Given the description of an element on the screen output the (x, y) to click on. 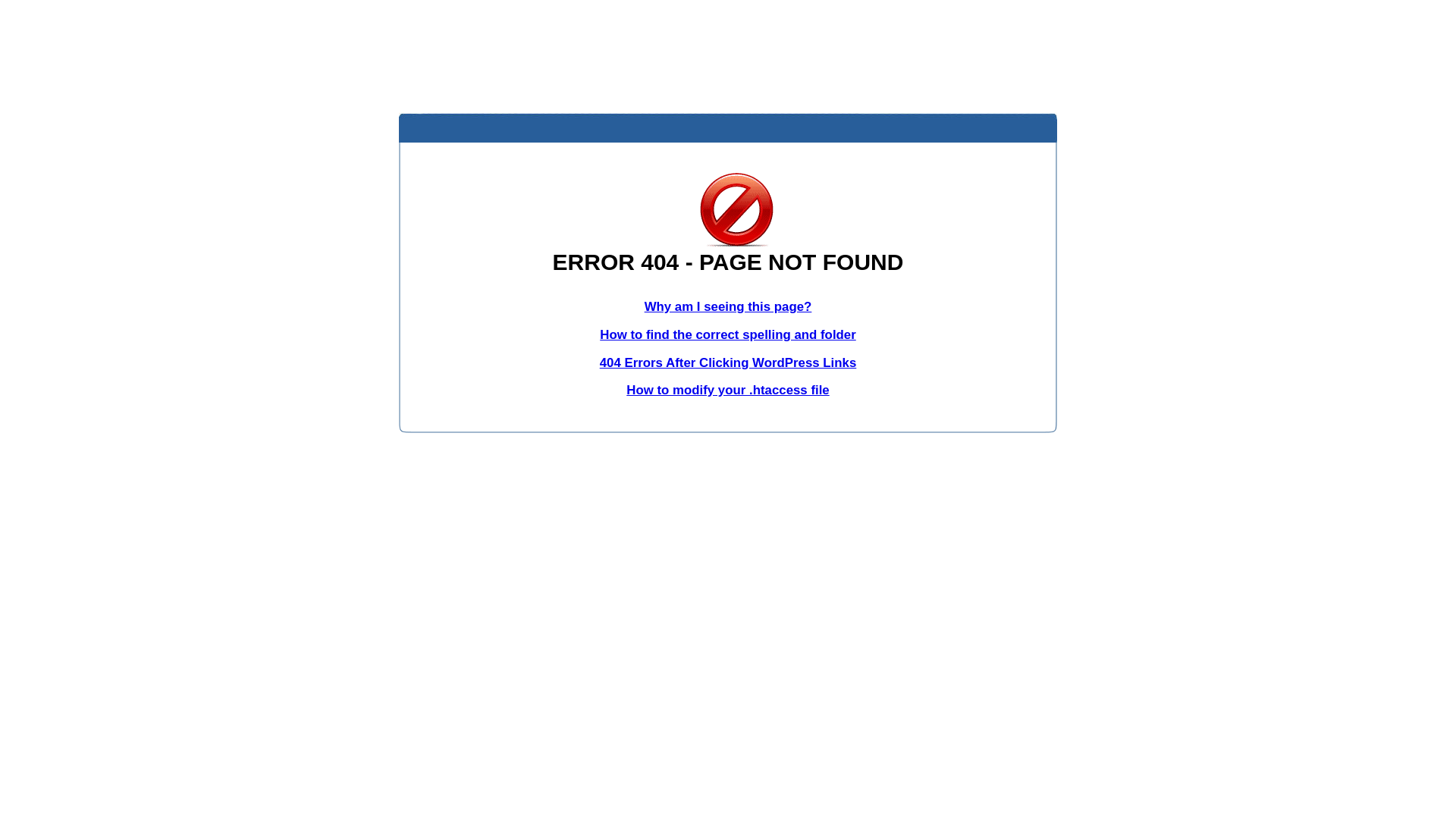
Why am I seeing this page? Element type: text (728, 306)
How to find the correct spelling and folder Element type: text (727, 334)
404 Errors After Clicking WordPress Links Element type: text (727, 362)
How to modify your .htaccess file Element type: text (727, 389)
